Given the description of an element on the screen output the (x, y) to click on. 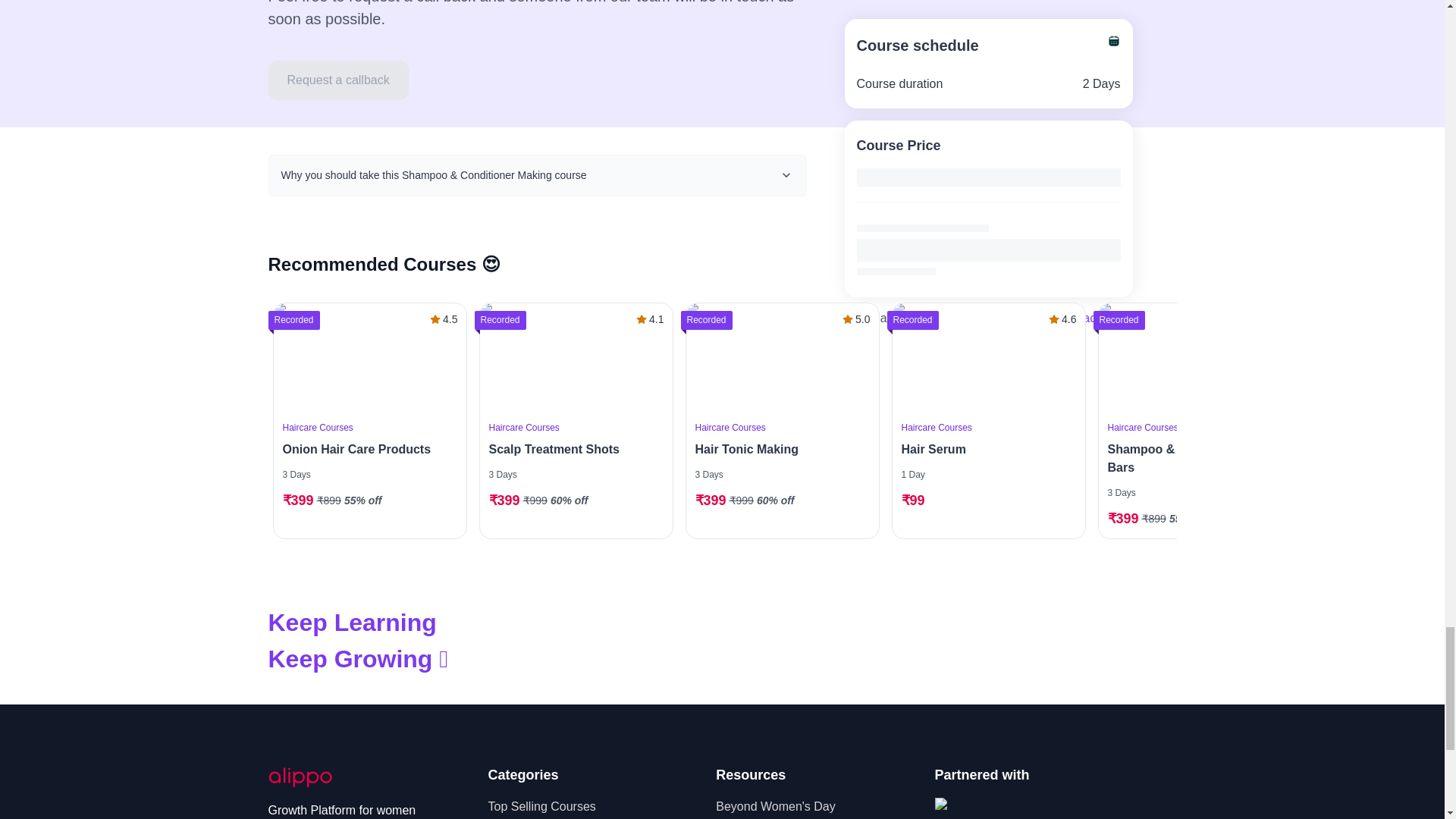
Scalp Treatment Shots (570, 449)
Request a callback (338, 79)
Hair Tonic Making (777, 449)
Onion Hair Care Products (369, 357)
Scalp Treatment Shots (575, 357)
Hair Serum (984, 449)
Onion Hair Care Products (365, 449)
Onion Hair Care Products (365, 449)
